Given the description of an element on the screen output the (x, y) to click on. 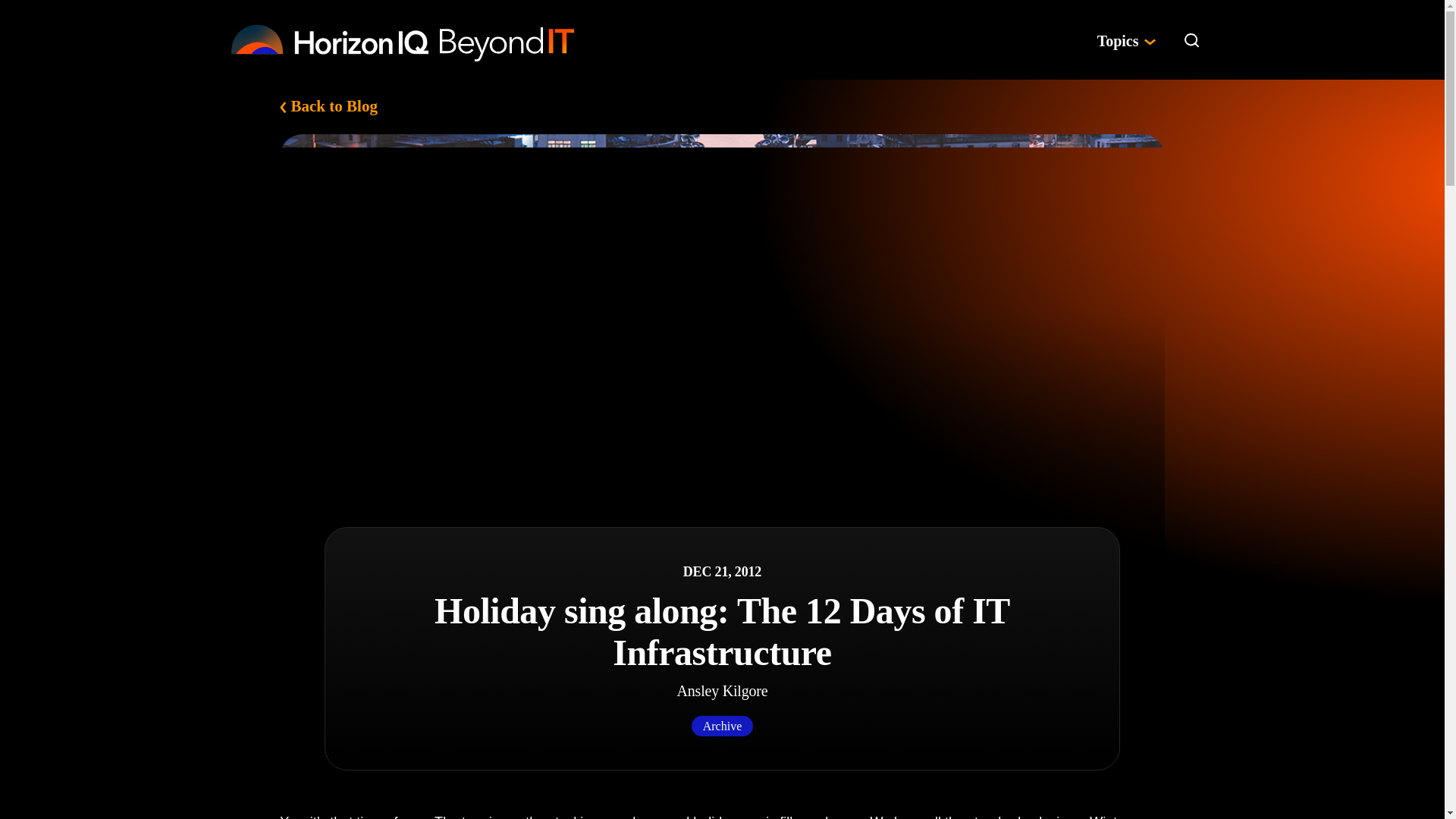
Topics (1125, 39)
Archive (722, 725)
Back to Blog (328, 106)
